Given the description of an element on the screen output the (x, y) to click on. 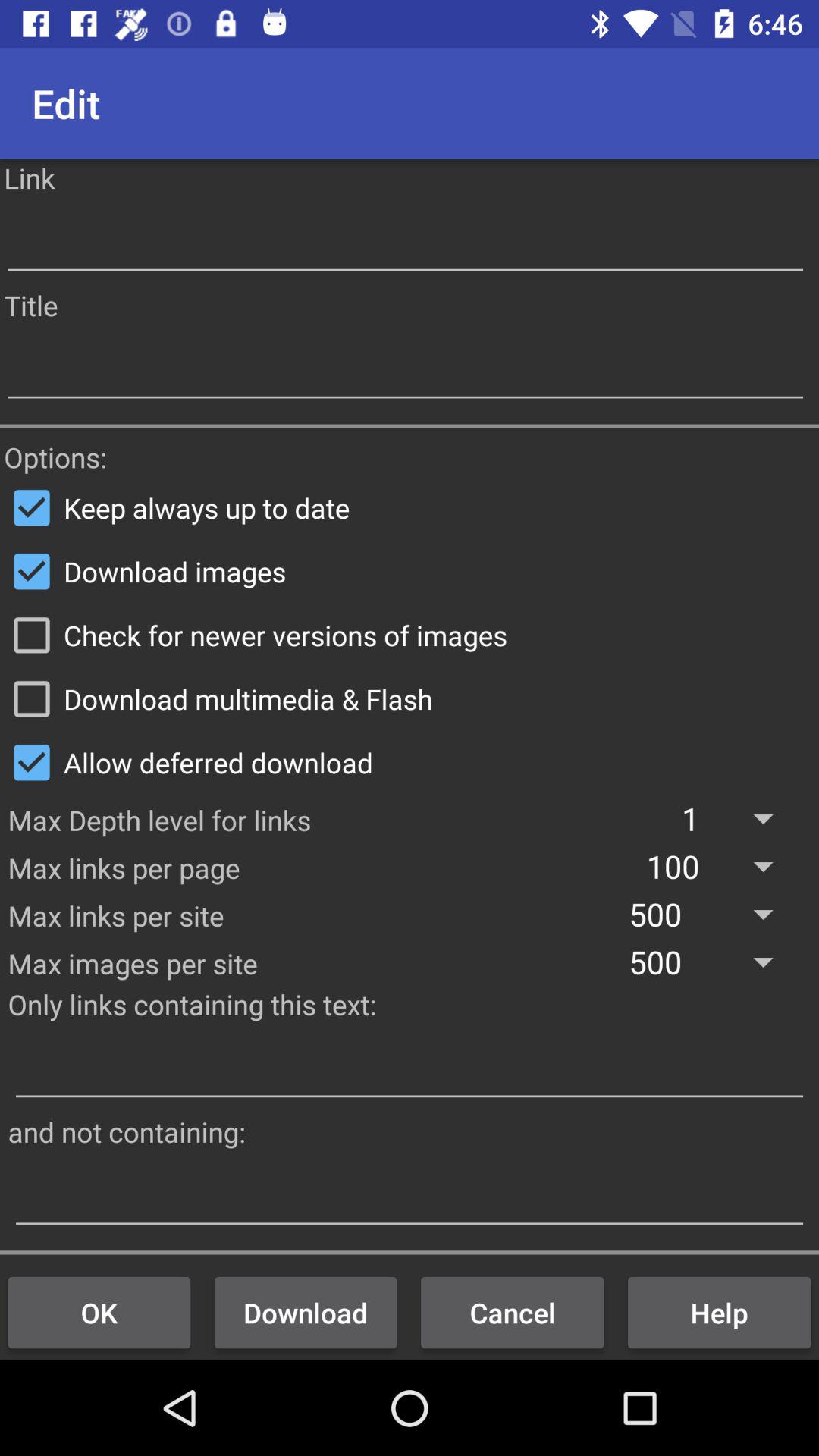
enter title (405, 369)
